Given the description of an element on the screen output the (x, y) to click on. 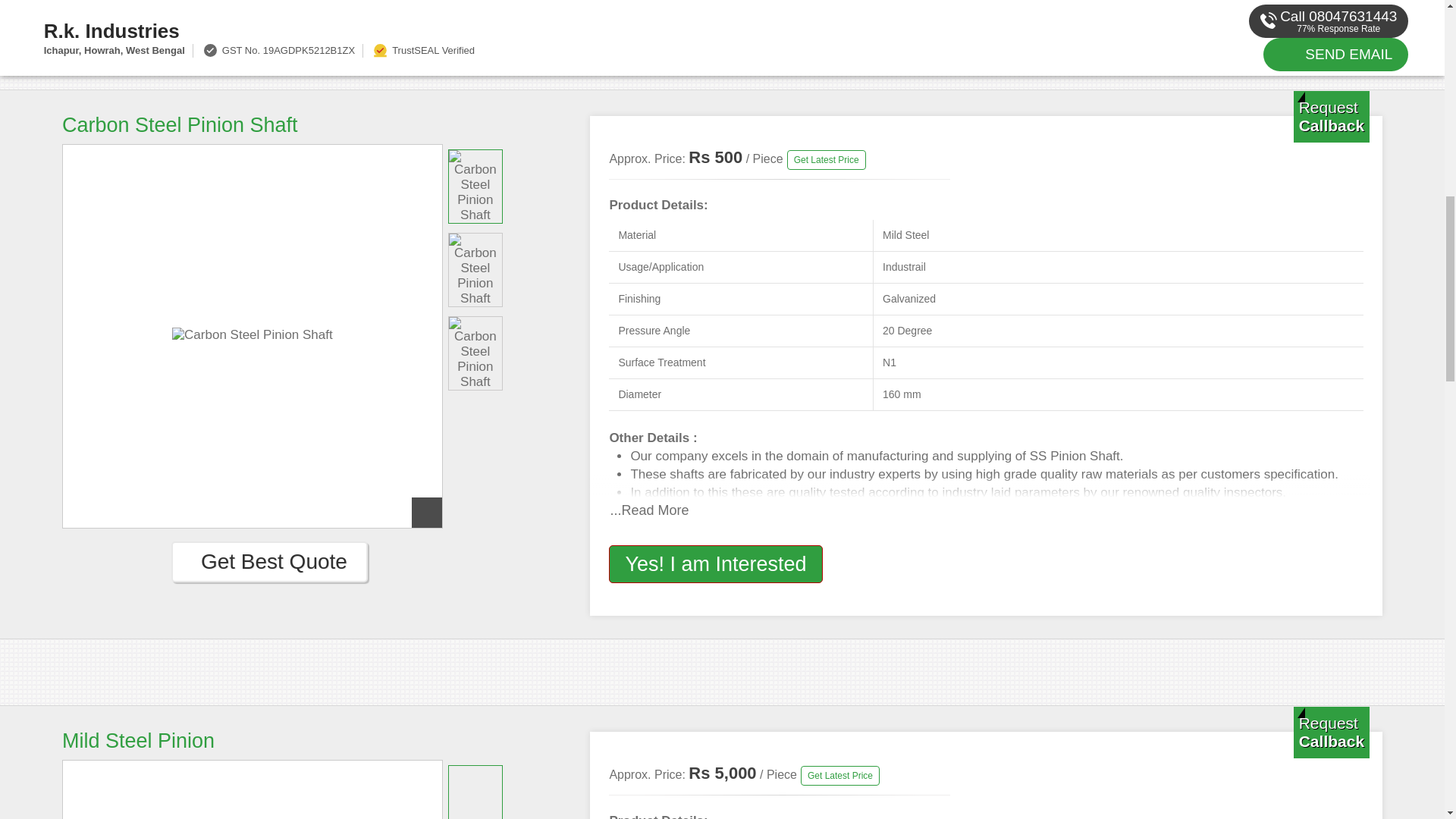
Get a Call from us (1332, 732)
Get a Call from us (1332, 116)
